Given the description of an element on the screen output the (x, y) to click on. 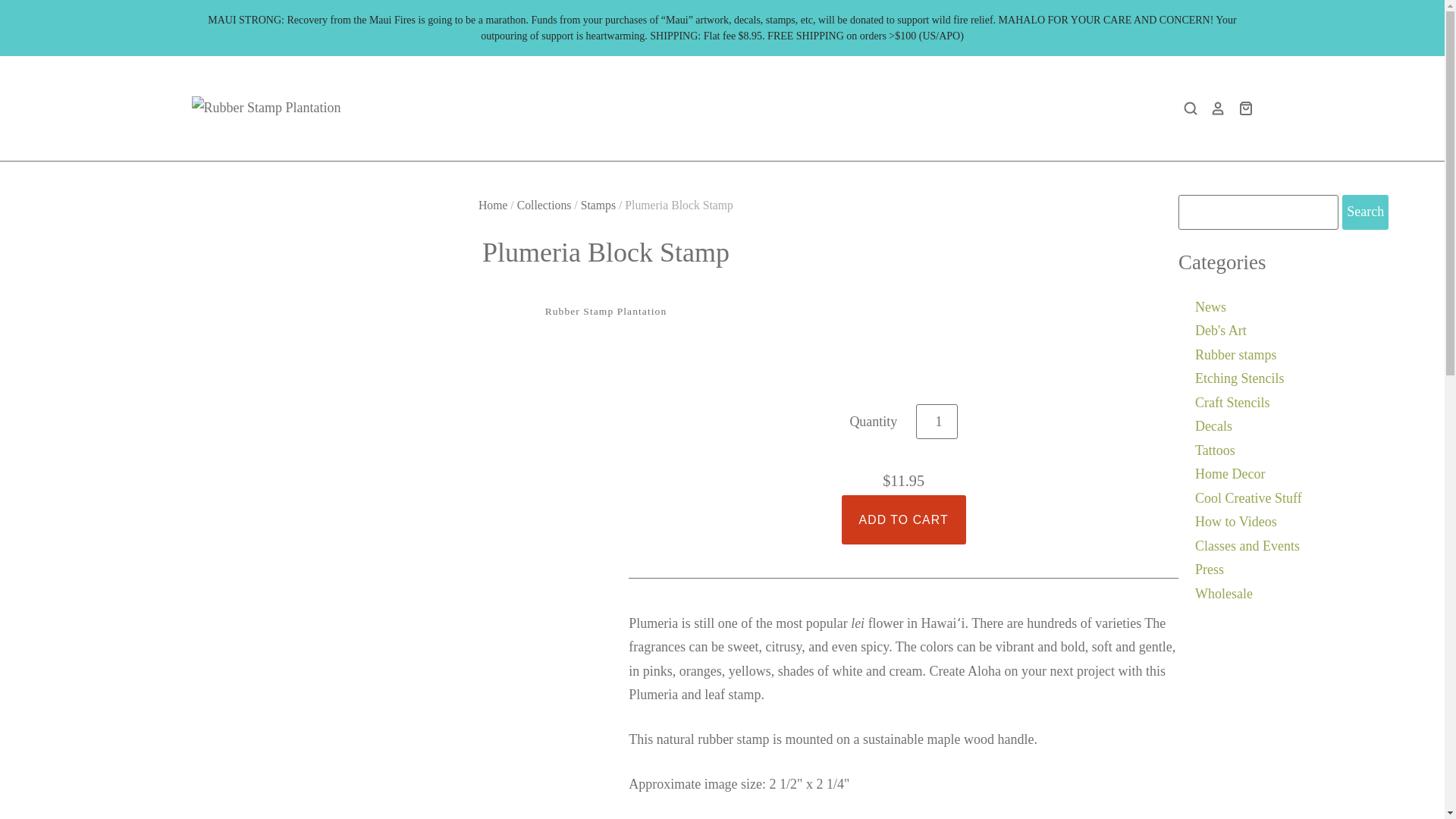
Add to cart (903, 520)
Stamps (597, 205)
1 (936, 421)
Home (493, 205)
Rubber Stamp Plantation (605, 311)
Collections (544, 205)
